Given the description of an element on the screen output the (x, y) to click on. 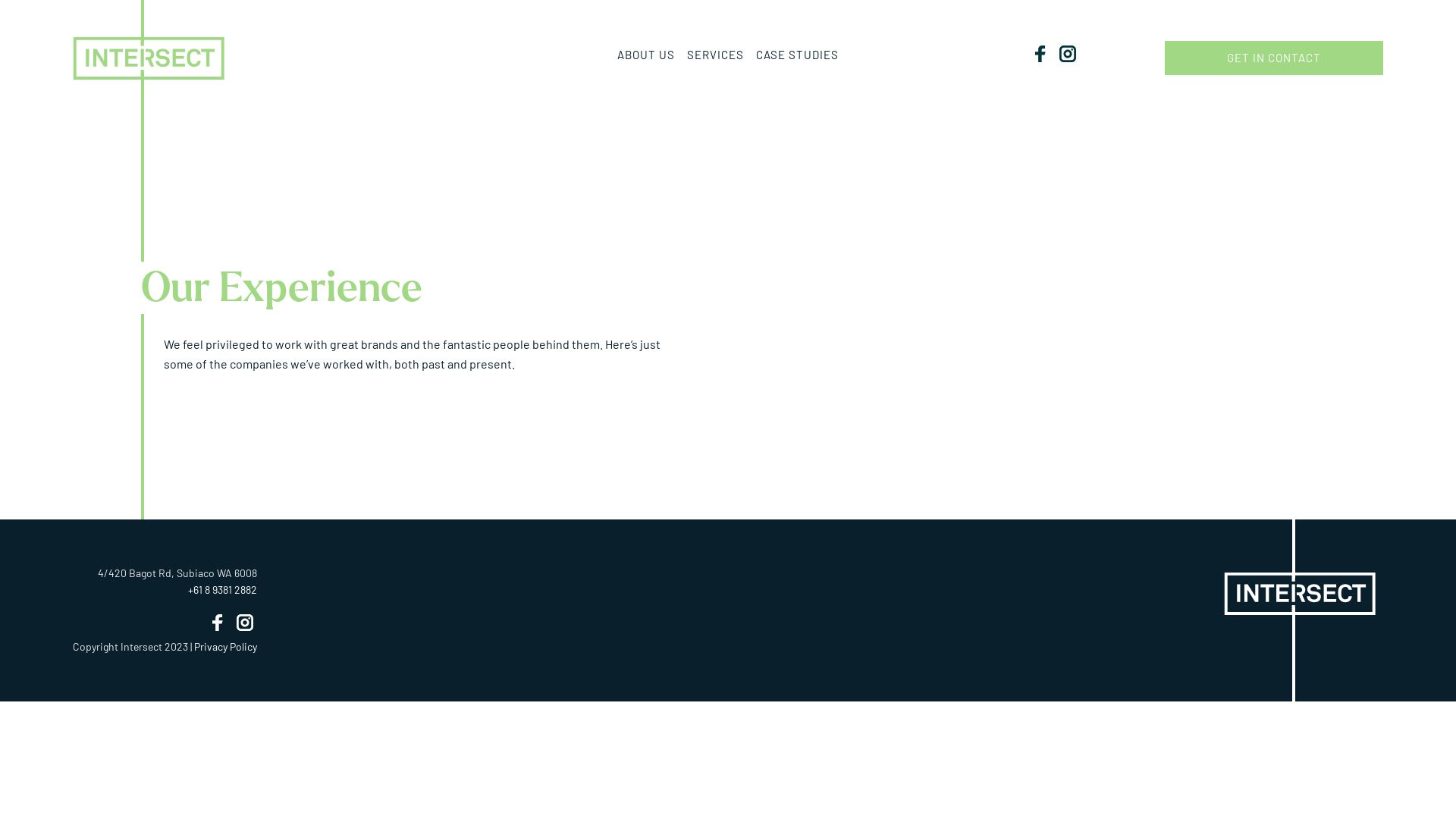
ABOUT US Element type: text (645, 55)
+61 8 9381 2882 Element type: text (222, 589)
Privacy Policy Element type: text (225, 646)
CASE STUDIES Element type: text (797, 55)
GET IN CONTACT Element type: text (1273, 57)
SERVICES Element type: text (715, 55)
